Given the description of an element on the screen output the (x, y) to click on. 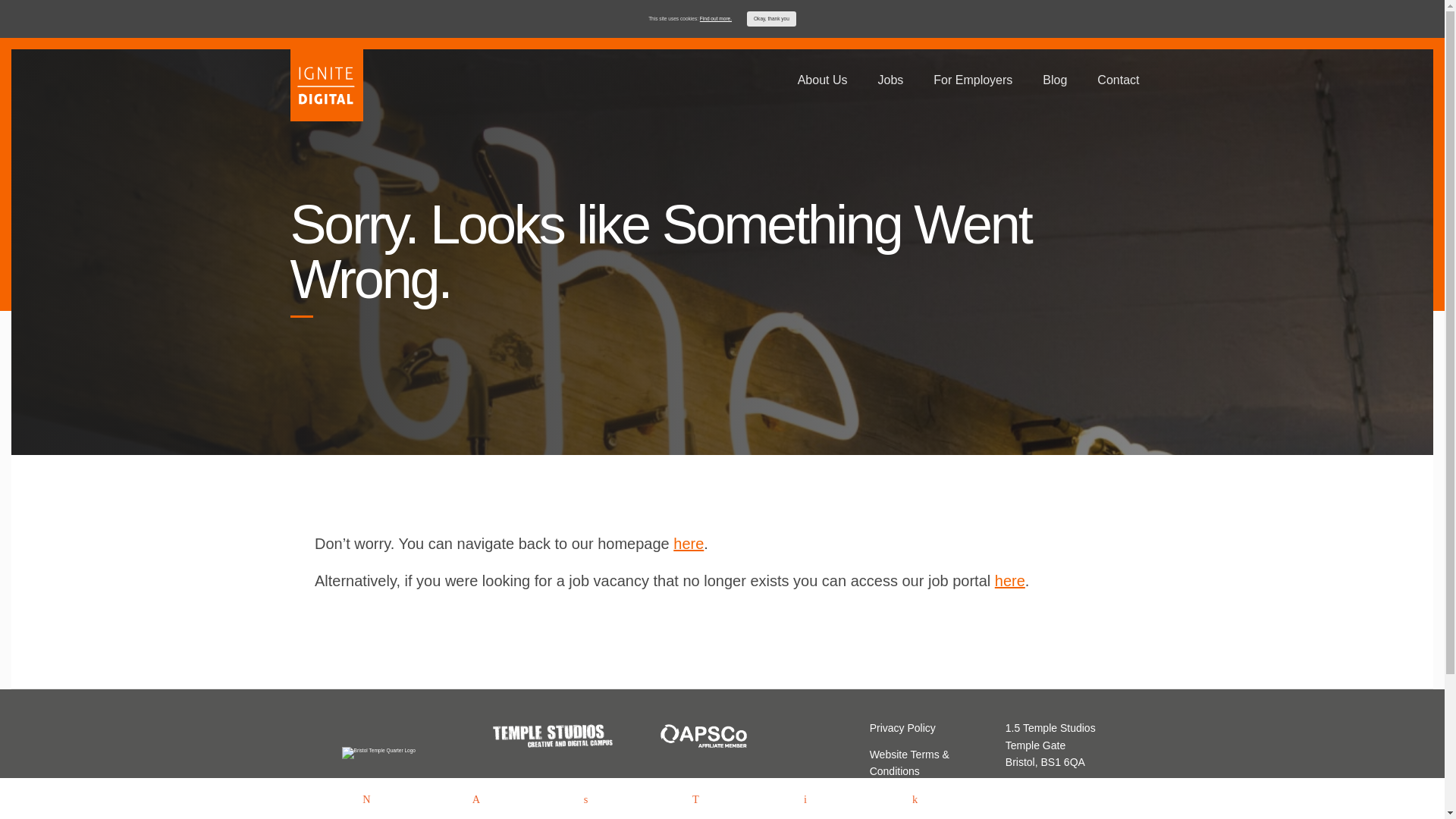
Contact (1117, 80)
About Us (822, 80)
Find out more. (716, 18)
Privacy Policy (902, 727)
Okay, thank you (771, 18)
Contact (887, 797)
For Employers (972, 80)
here (687, 543)
Blog (1054, 80)
Jobs (890, 80)
here (1009, 580)
